Given the description of an element on the screen output the (x, y) to click on. 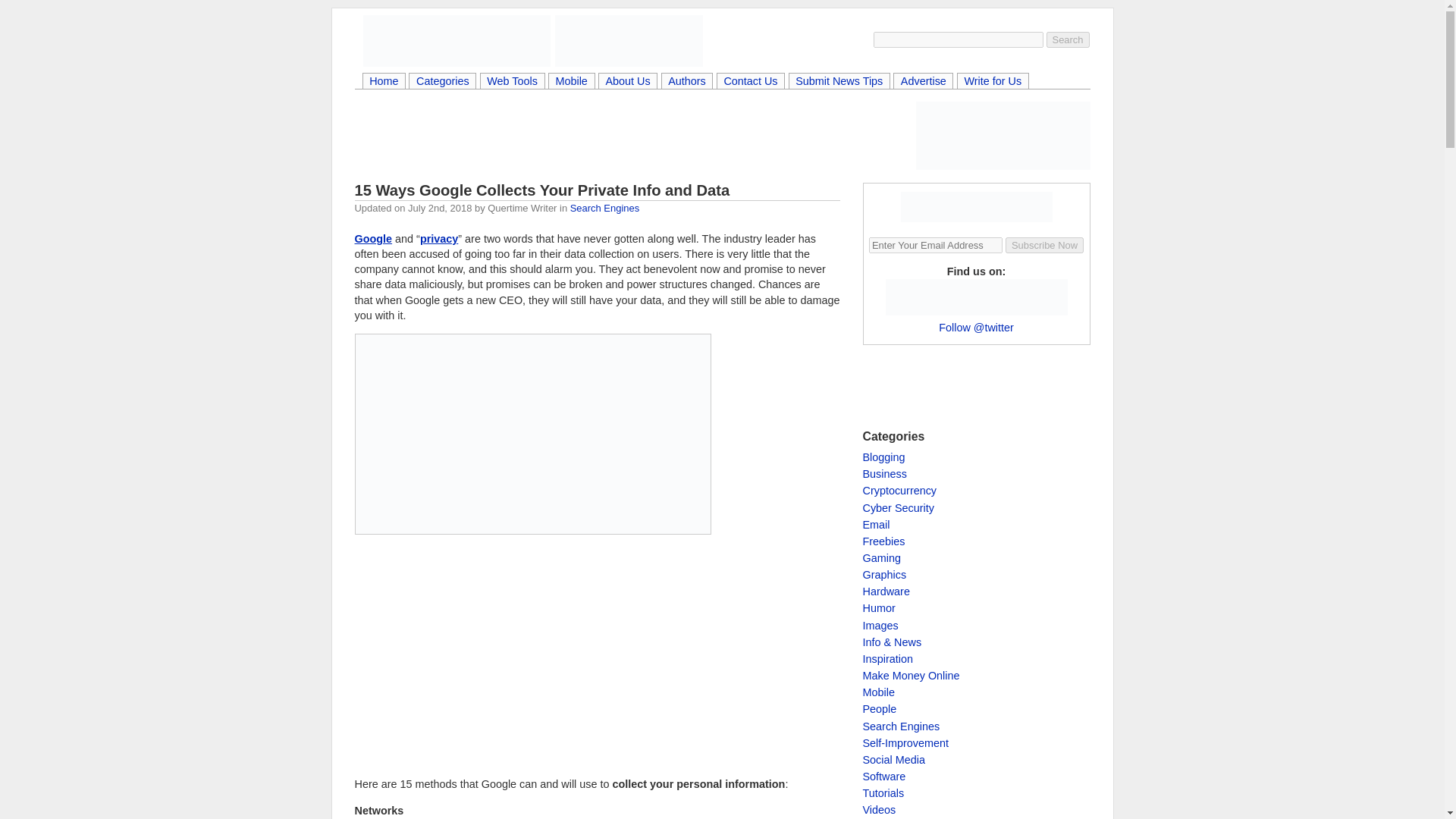
Submit News Tips (838, 82)
privacy (439, 238)
Home (383, 82)
Contact Us (750, 82)
Authors (687, 82)
Web Tools (512, 82)
Search (1067, 39)
Search Engines (604, 207)
Mobile (571, 82)
Google (374, 238)
Quertime Logo (456, 40)
Advertise (922, 82)
Write for Us (992, 82)
Get daily articles for free. (976, 206)
Like Quertime on Facebook! (1000, 135)
